Given the description of an element on the screen output the (x, y) to click on. 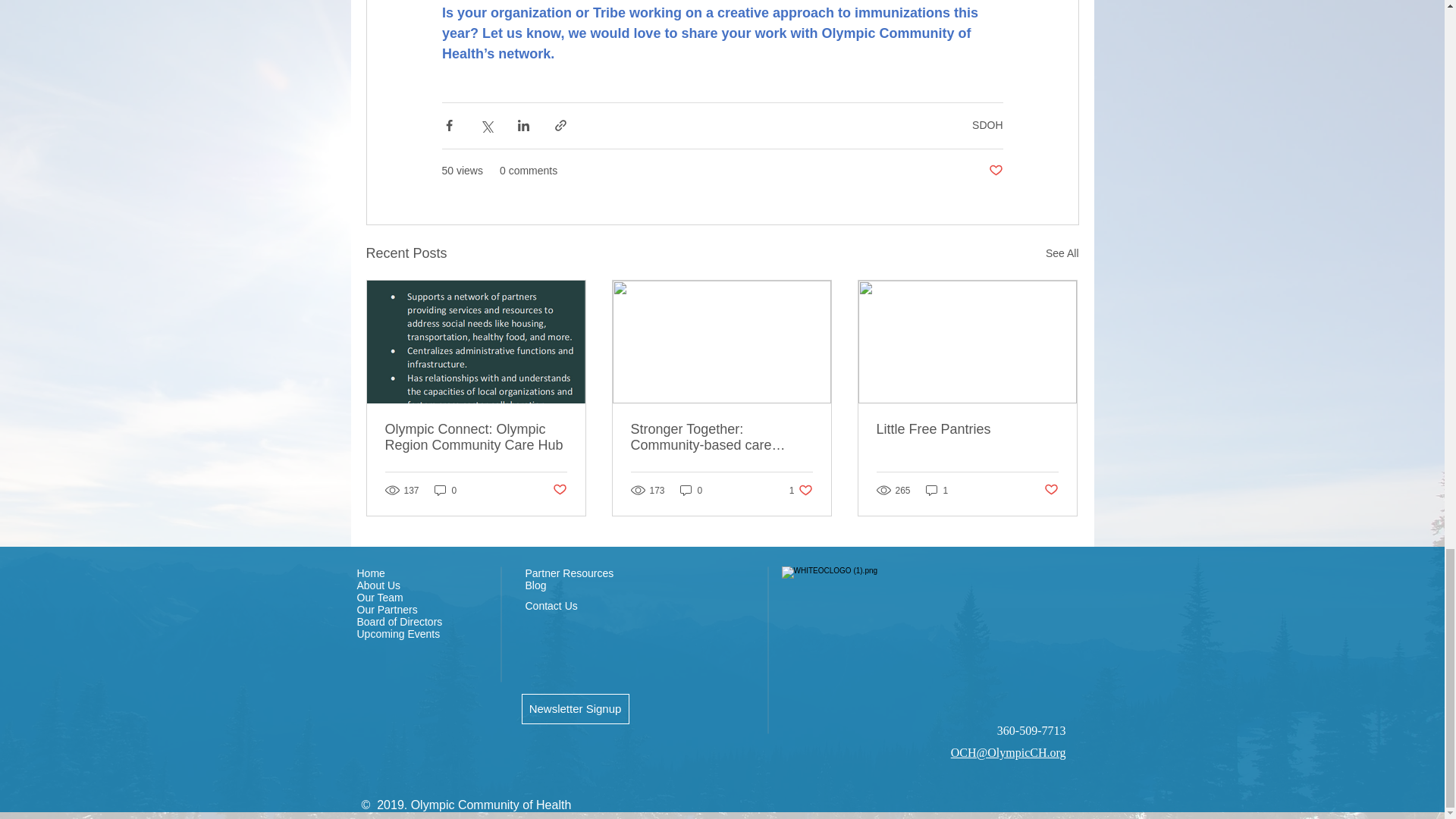
SDOH (987, 124)
Post not marked as liked (995, 170)
Post not marked as liked (558, 489)
Olympic Connect: Olympic Region Community Care Hub (476, 437)
See All (1061, 253)
0 (445, 490)
